Given the description of an element on the screen output the (x, y) to click on. 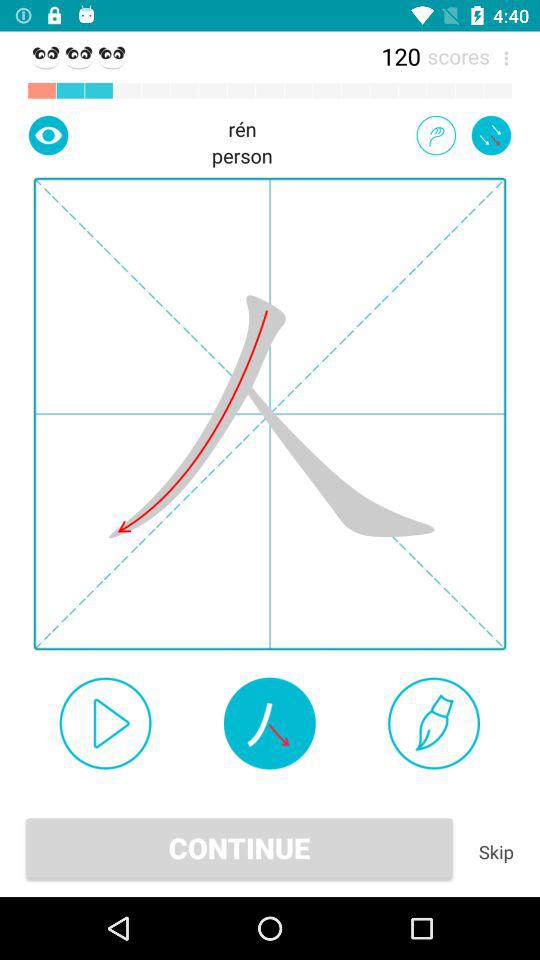
press app next to the skip app (239, 847)
